Given the description of an element on the screen output the (x, y) to click on. 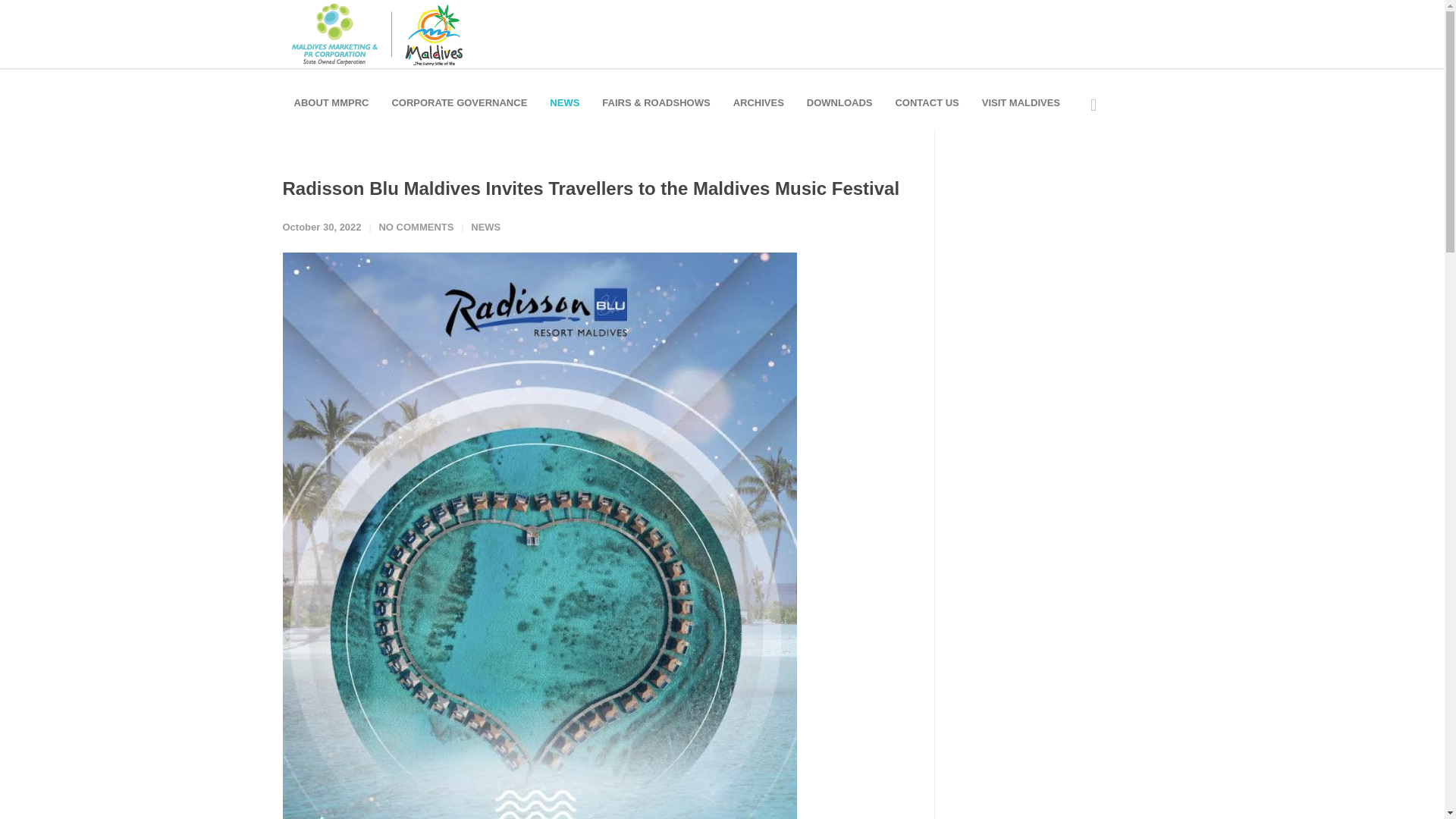
CORPORATE GOVERNANCE (459, 102)
ABOUT MMPRC (331, 102)
NO COMMENTS (415, 226)
CONTACT US (926, 102)
NEWS (564, 102)
NEWS (485, 226)
VISIT MALDIVES (1021, 102)
ARCHIVES (758, 102)
DOWNLOADS (838, 102)
